Given the description of an element on the screen output the (x, y) to click on. 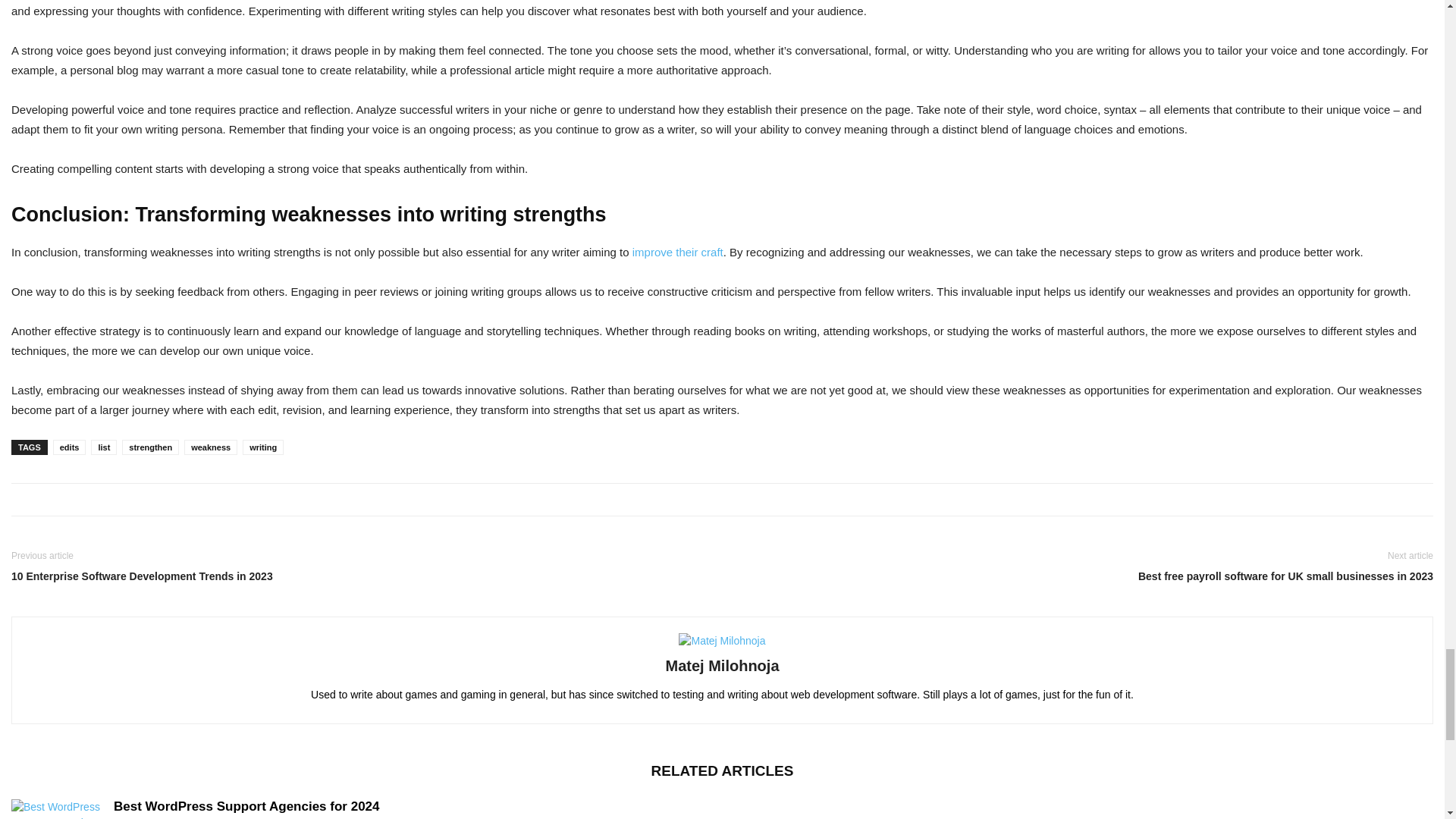
Best free payroll software for UK small businesses in 2023 (1080, 576)
strengthen (150, 447)
edits (68, 447)
list (103, 447)
weakness (210, 447)
writing (263, 447)
10 Enterprise Software Development Trends in 2023 (362, 576)
Matej Milohnoja (721, 665)
improve their craft (677, 251)
Best WordPress Support Agencies for 2024 (246, 806)
Best WordPress Support Agencies for 2024 (56, 809)
Best WordPress Support Agencies for 2024 (246, 806)
